Given the description of an element on the screen output the (x, y) to click on. 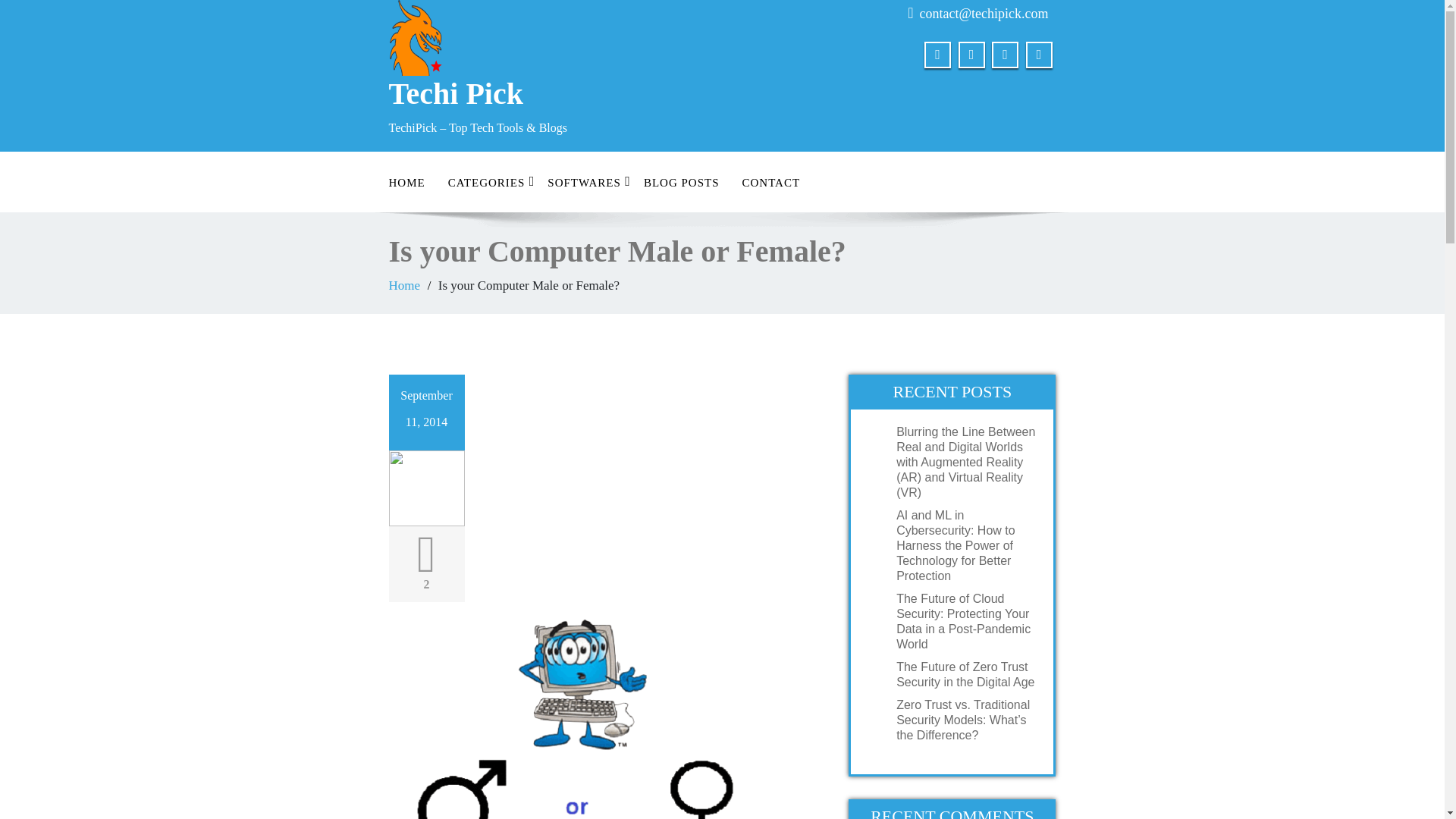
SOFTWARES (583, 183)
CONTACT (770, 183)
Youtube (1038, 54)
Facebook (937, 54)
BLOG POSTS (680, 183)
Twitter (971, 54)
Linkedin (1004, 54)
Home (404, 285)
HOME (406, 183)
Techi Pick (549, 122)
Techi Pick (549, 122)
CATEGORIES (486, 183)
